Given the description of an element on the screen output the (x, y) to click on. 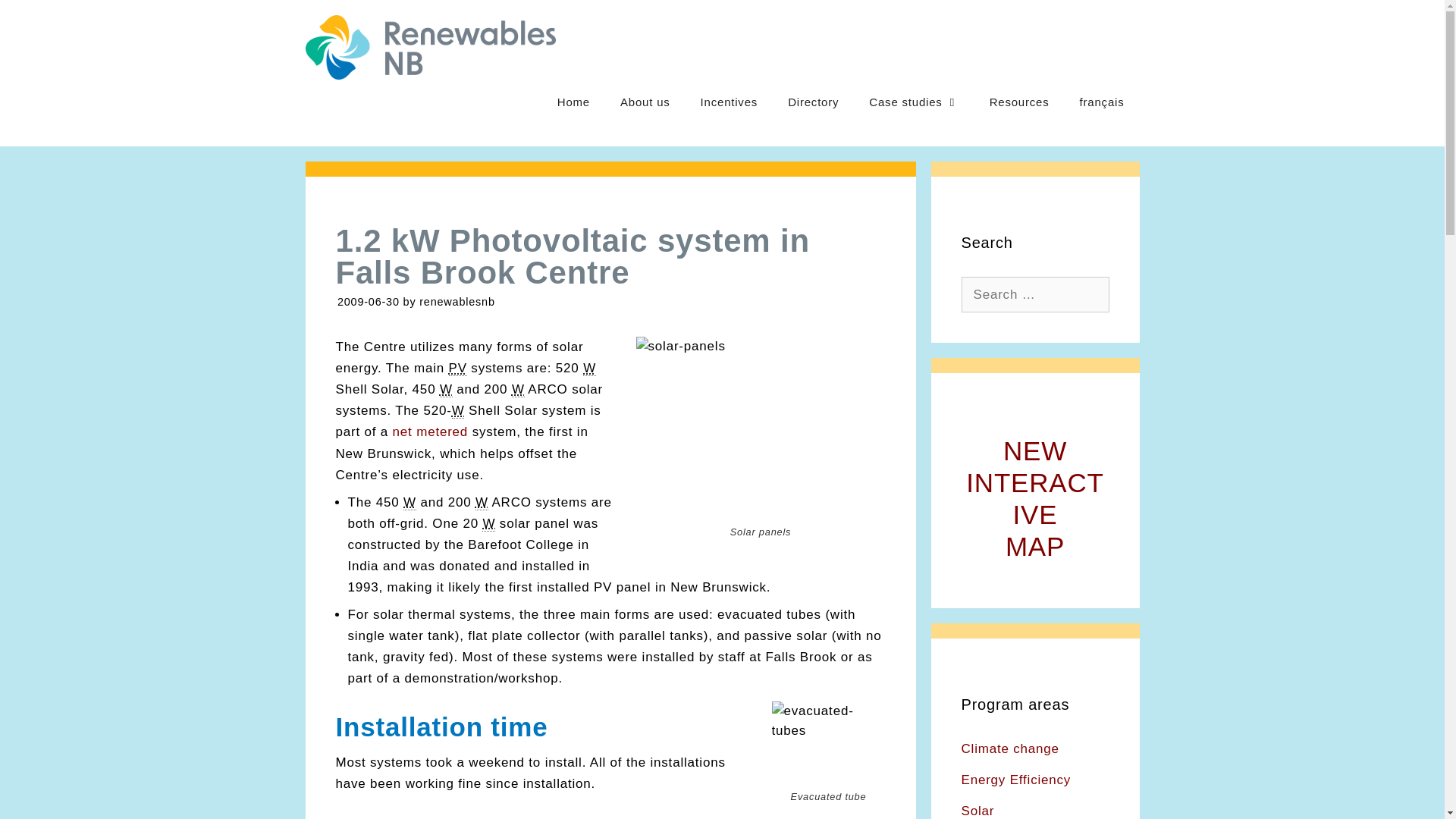
Directory (813, 102)
About us (645, 102)
Renewables NB Home (573, 102)
Resources (1019, 102)
Search (1034, 498)
Energy Efficiency (38, 18)
net metered (1015, 780)
About Renewables NB (430, 431)
photovoltaic (645, 102)
Case studies (457, 368)
Home (913, 102)
Climate change (573, 102)
Incentives (1009, 748)
Solar (729, 102)
